Given the description of an element on the screen output the (x, y) to click on. 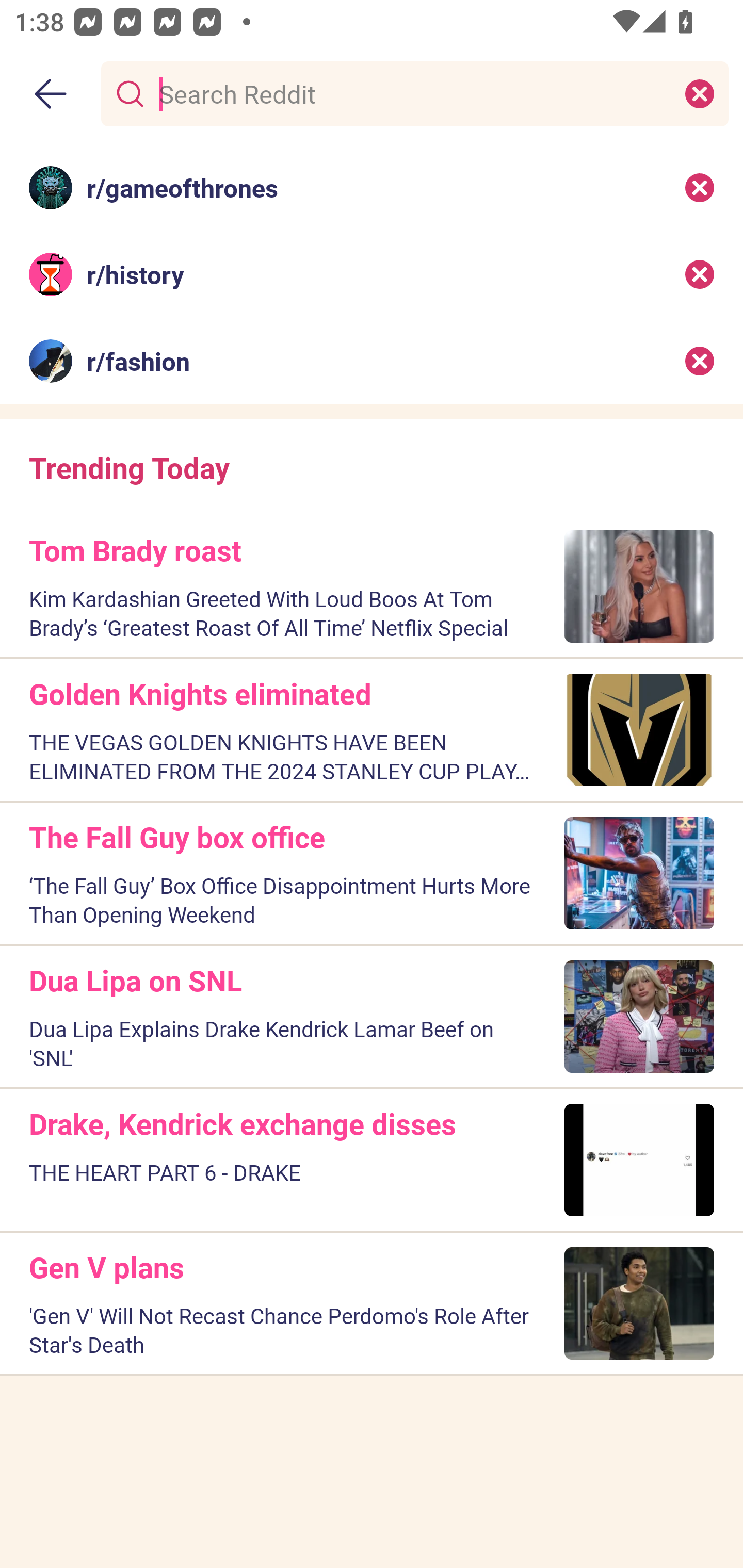
Back (50, 93)
Search Reddit (410, 93)
Clear search (699, 93)
Remove (699, 187)
r/history Recent search: r/history Remove (371, 274)
Remove (699, 274)
r/fashion Recent search: r/fashion Remove (371, 361)
Remove (699, 361)
